Given the description of an element on the screen output the (x, y) to click on. 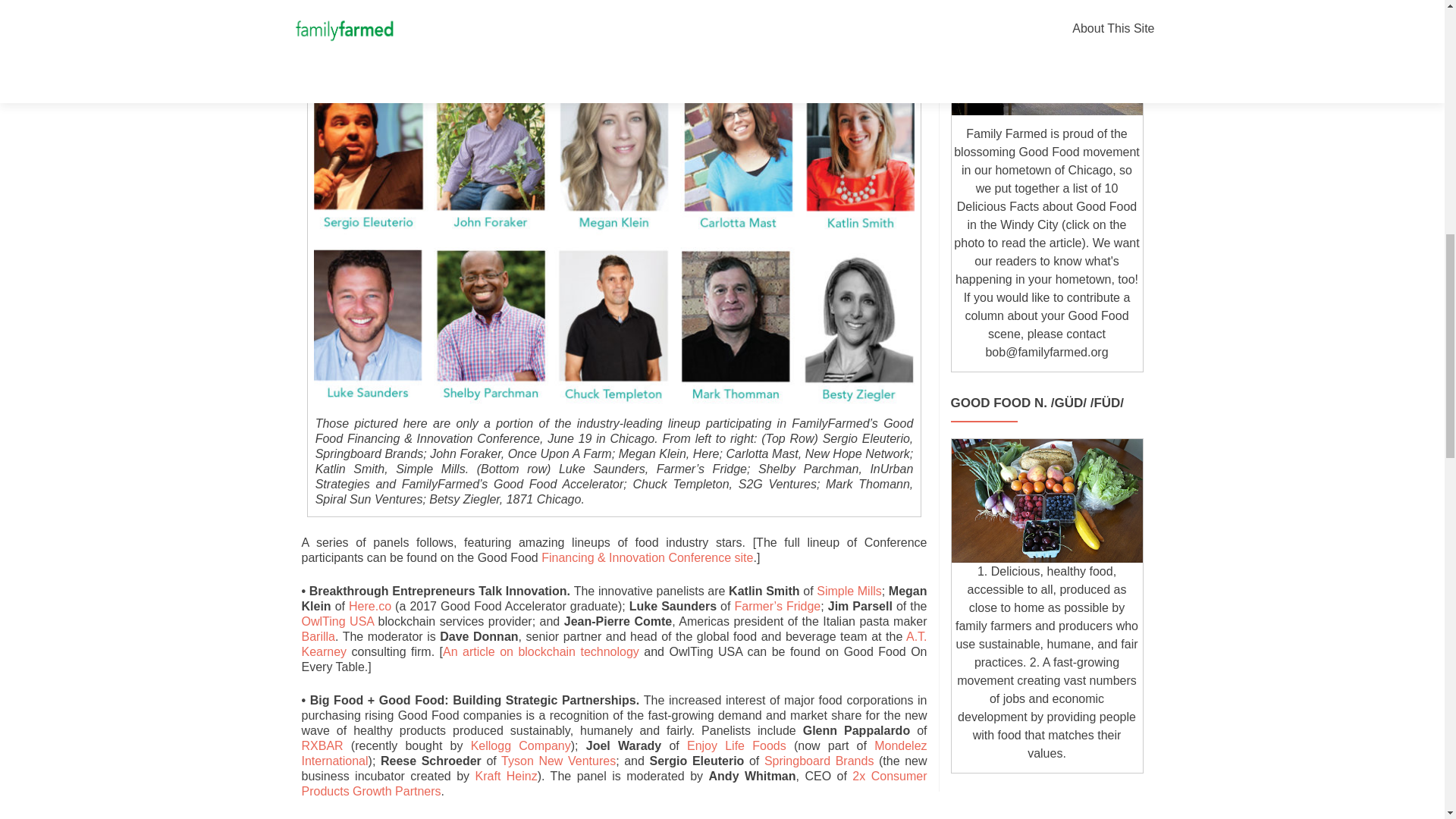
New Hope Network (617, 13)
OwlTing USA (337, 621)
Here.co (370, 605)
Barilla (317, 635)
Kellogg Company (520, 745)
Enjoy Life Foods (736, 745)
A.T. Kearney (614, 643)
Simple Mills (849, 590)
An article on blockchain technology (540, 651)
RXBAR (322, 745)
